Given the description of an element on the screen output the (x, y) to click on. 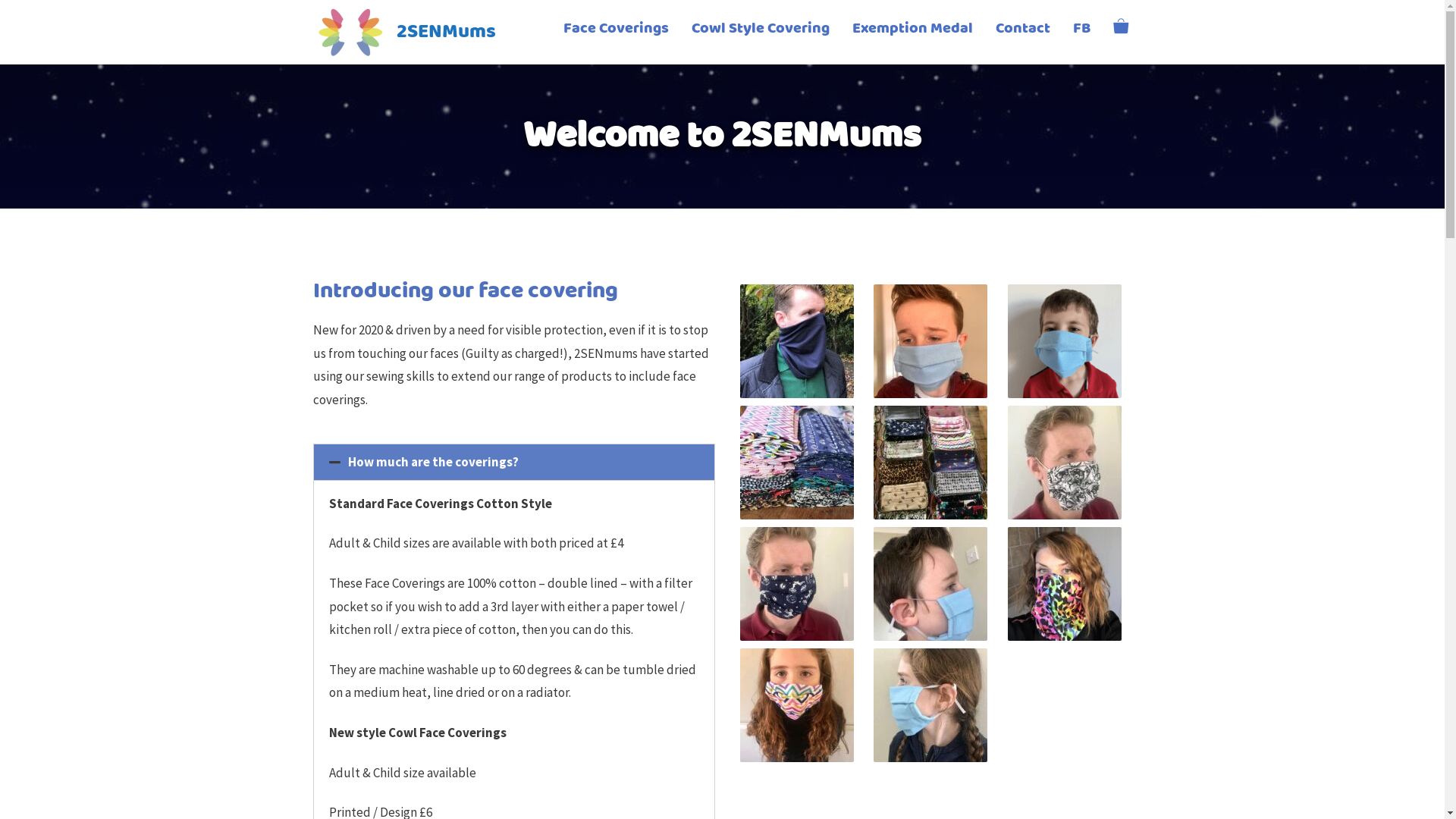
Contact Element type: text (1022, 28)
View your shopping cart Element type: hover (1120, 28)
FB Element type: text (1081, 28)
2SENMums Element type: text (445, 31)
2SENMums Element type: hover (349, 29)
How much are the coverings? Element type: text (433, 461)
2SENMums Element type: hover (349, 31)
Exemption Medal Element type: text (911, 28)
Cowl Style Covering Element type: text (759, 28)
Face Coverings Element type: text (616, 28)
